Given the description of an element on the screen output the (x, y) to click on. 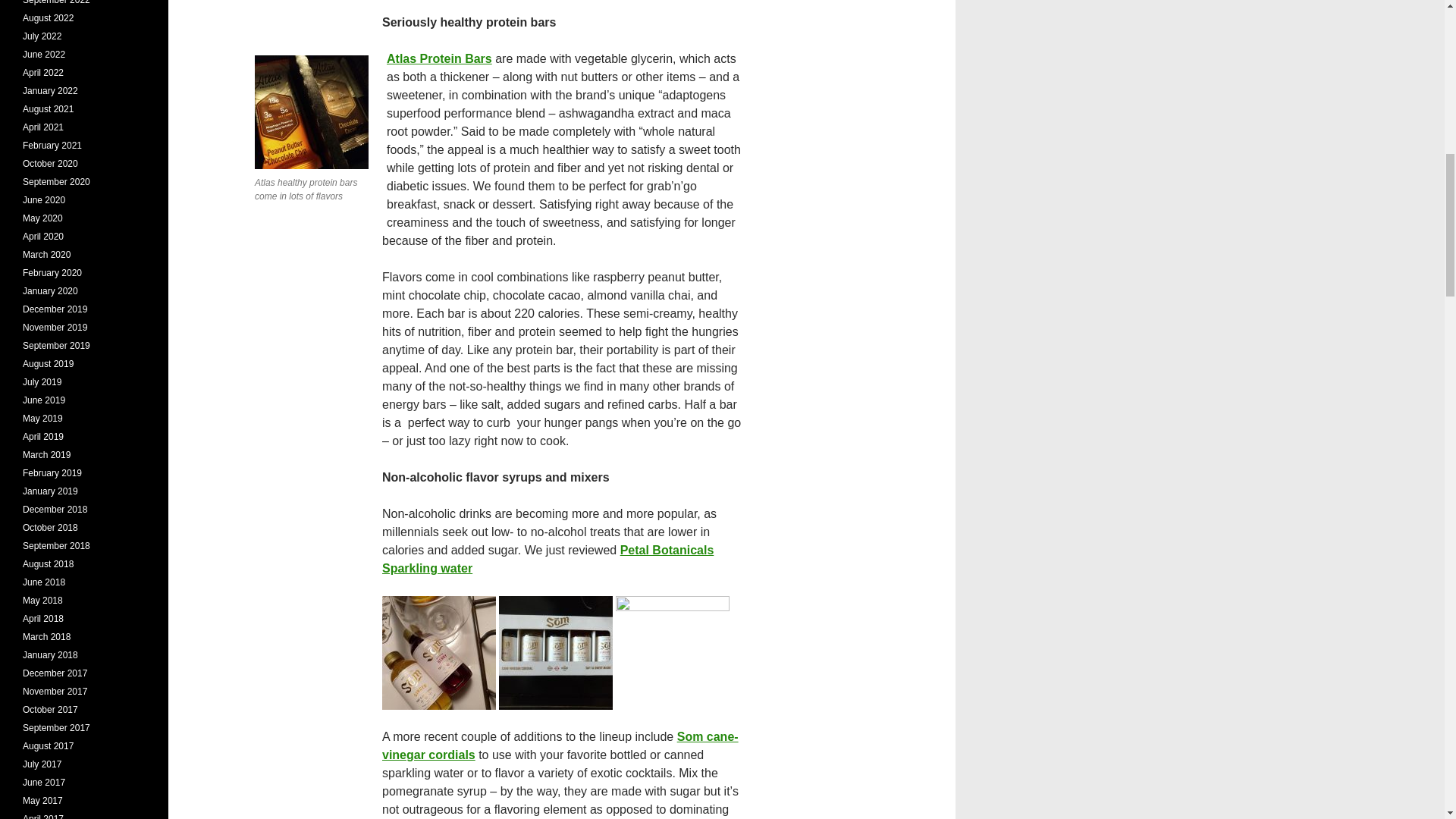
Atlas Protein Bars (439, 58)
Petal Botanicals Sparkling water (547, 558)
Som cane-vinegar cordials (559, 745)
